Given the description of an element on the screen output the (x, y) to click on. 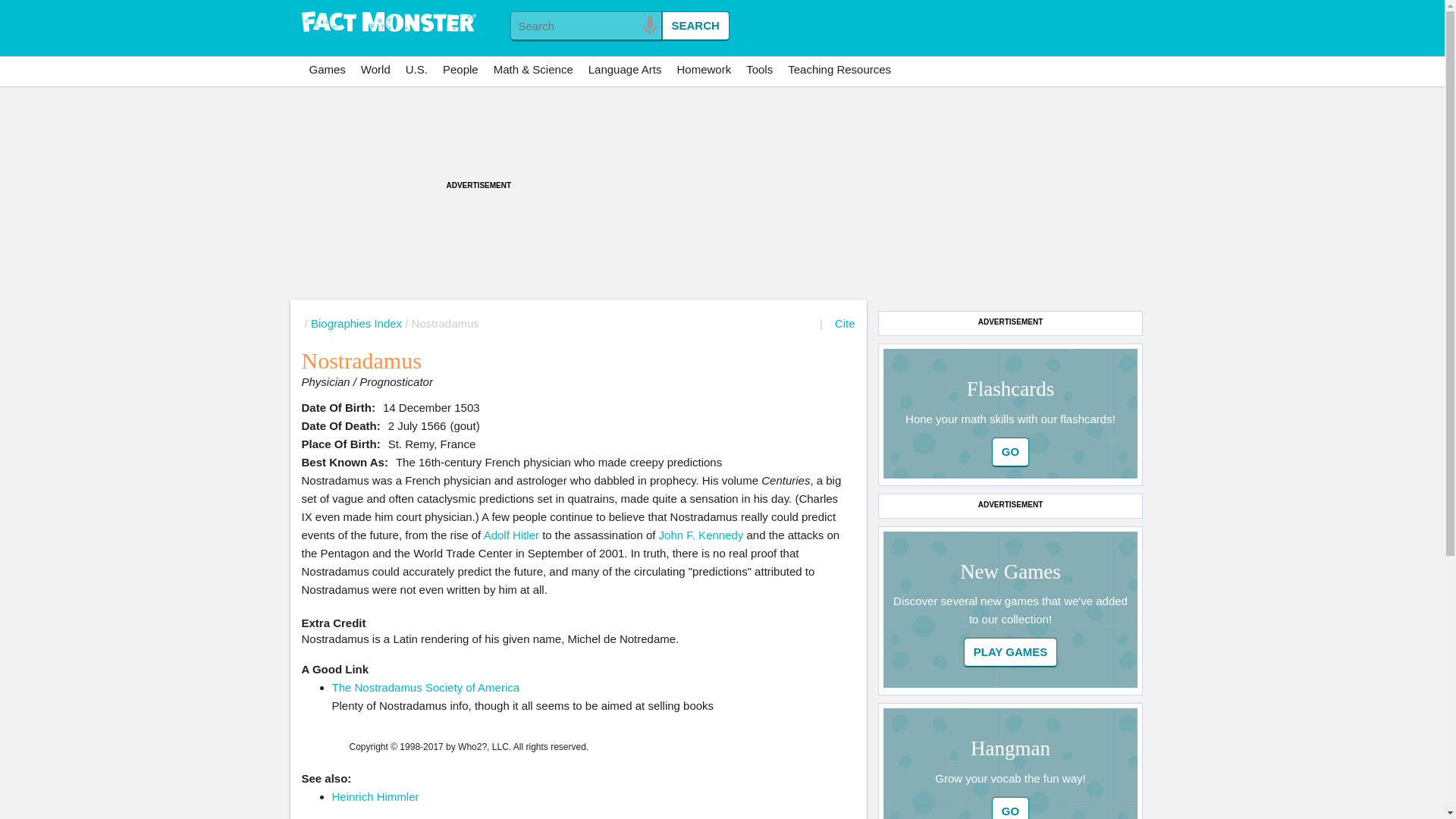
Search (695, 25)
Search (695, 25)
Games (327, 69)
Search (695, 25)
Home (387, 22)
Go (1010, 807)
Go (1010, 451)
Go (1010, 451)
Go (1010, 652)
Play Games (1010, 652)
